Given the description of an element on the screen output the (x, y) to click on. 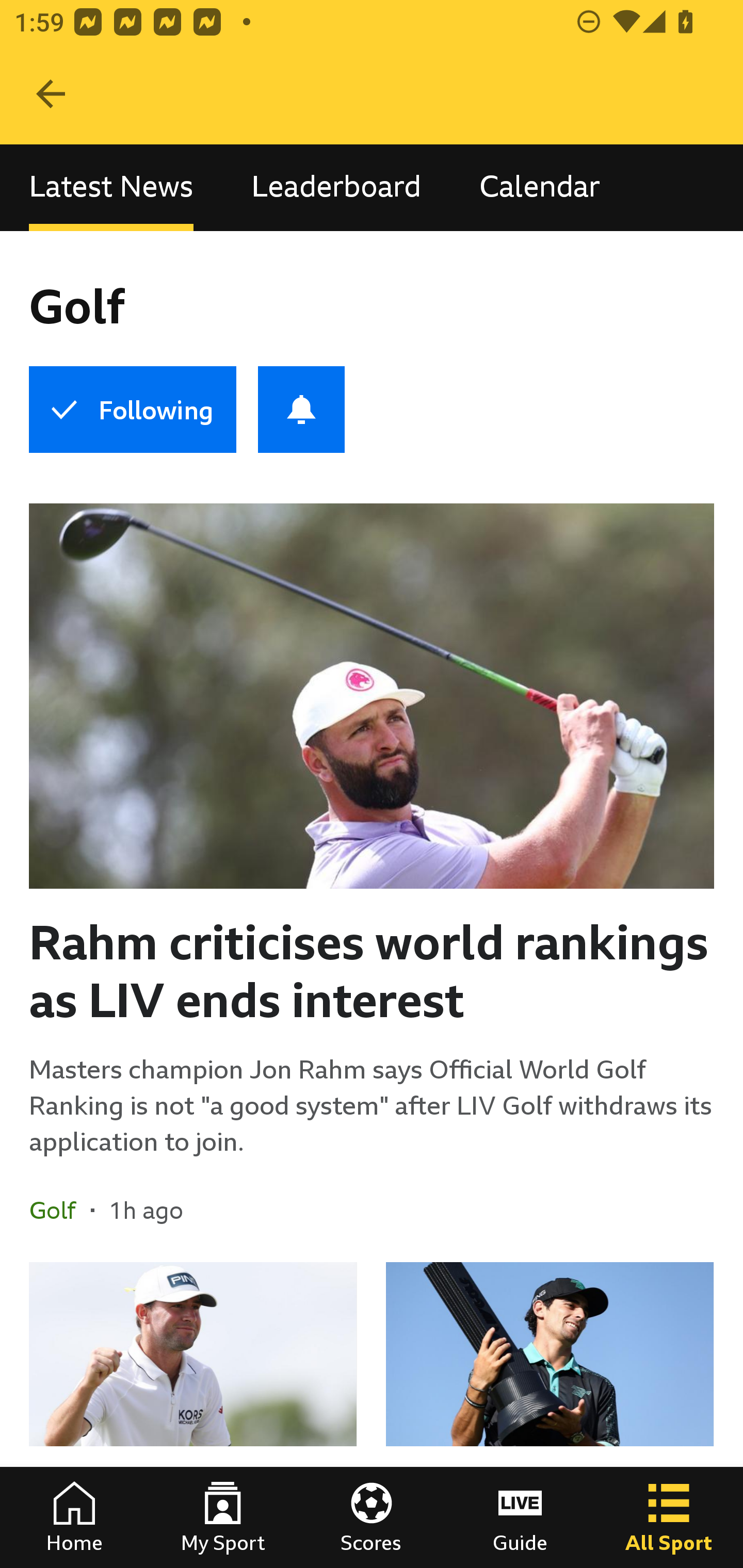
Navigate up (50, 93)
Latest News, selected Latest News (111, 187)
Leaderboard (336, 187)
Calendar (539, 187)
Following Golf Following (132, 409)
Push notifications for Golf (300, 409)
Eckroat wins PGA title as Lowry & Skinns fall away (192, 1415)
Chile's Niemann wins LIV Jeddah in Saudi Arabia (549, 1415)
Home (74, 1517)
My Sport (222, 1517)
Scores (371, 1517)
Guide (519, 1517)
